Given the description of an element on the screen output the (x, y) to click on. 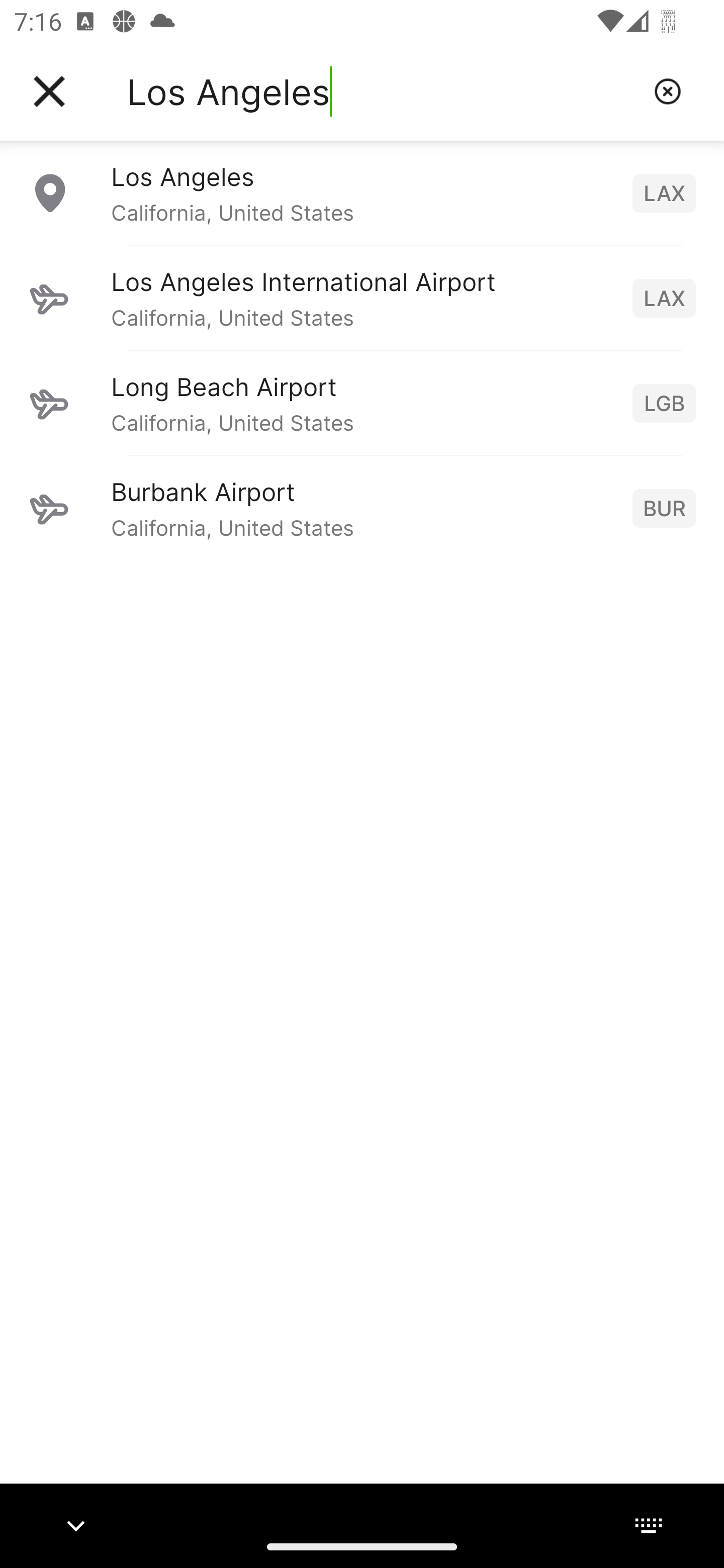
Los Angeles (382, 91)
Los Angeles California, United States LAX (362, 192)
Long Beach Airport California, United States LGB (362, 402)
Burbank Airport California, United States BUR (362, 507)
